Given the description of an element on the screen output the (x, y) to click on. 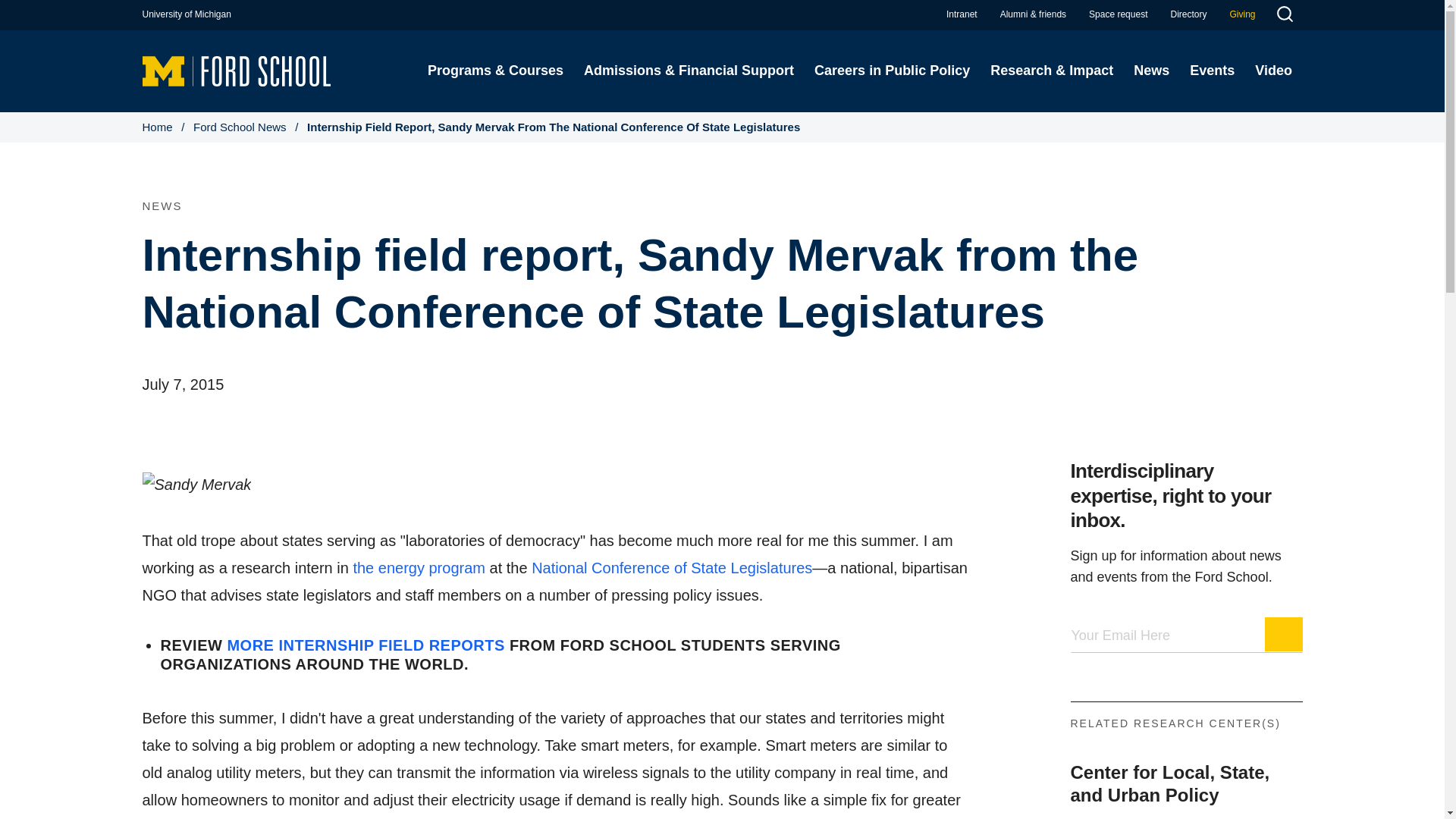
Home (236, 69)
Intranet (961, 14)
University of Michigan (186, 14)
Search Toggle (1283, 15)
Subscribe (1284, 634)
Give to the Ford School (1241, 14)
Directory (1188, 14)
A connected community to each other, and to the world (1032, 14)
Giving (1241, 14)
